Given the description of an element on the screen output the (x, y) to click on. 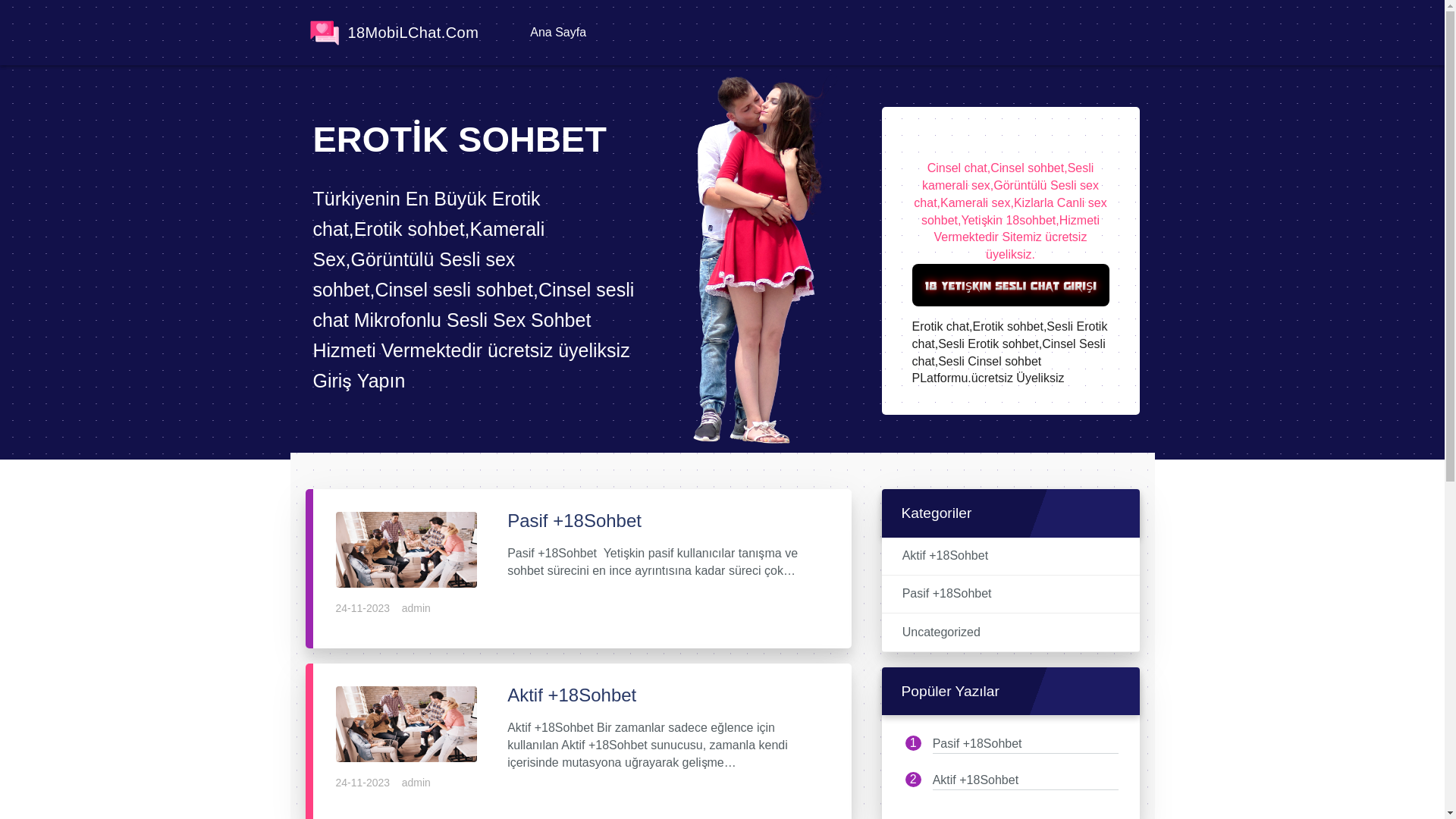
 18MobiLChat.Com Element type: text (391, 32)
Pasif +18Sohbet Element type: text (663, 520)
Pasif +18Sohbet Element type: text (977, 743)
Pasif +18Sohbet Element type: hover (405, 549)
Pasif +18Sohbet Element type: text (946, 593)
Aktif +18Sohbet Element type: text (663, 695)
admin Element type: text (415, 608)
Aktif +18Sohbet Element type: hover (405, 724)
Uncategorized Element type: text (941, 632)
Ana Sayfa
(current) Element type: text (556, 32)
Aktif +18Sohbet Element type: hover (405, 722)
Pasif +18Sohbet Element type: hover (405, 548)
admin Element type: text (415, 782)
Aktif +18Sohbet Element type: text (975, 779)
Aktif +18Sohbet Element type: text (945, 555)
